Given the description of an element on the screen output the (x, y) to click on. 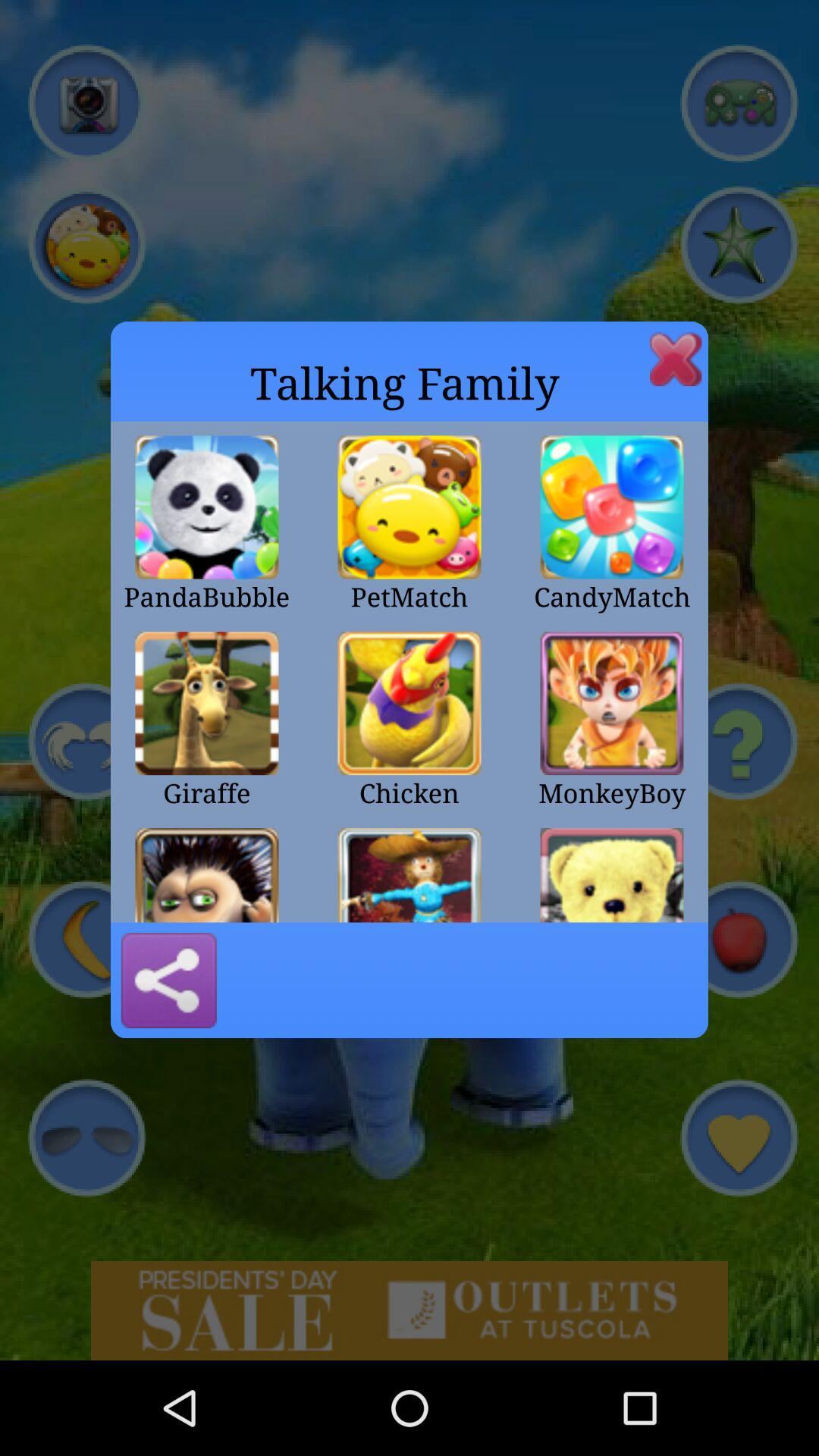
click item at the top right corner (675, 359)
